Given the description of an element on the screen output the (x, y) to click on. 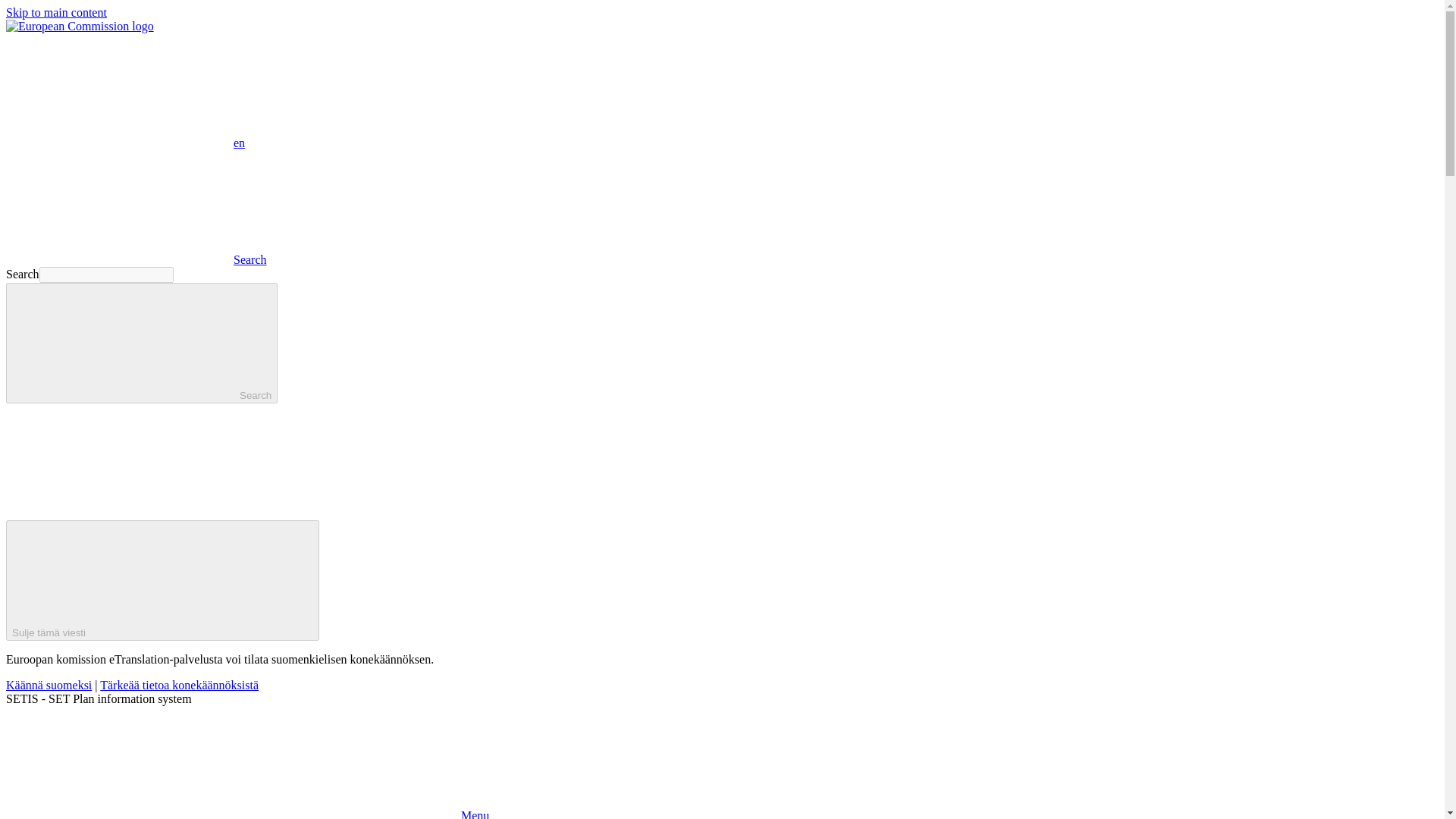
en (118, 90)
Skip to main content (55, 11)
Search (141, 342)
Menu (247, 814)
European Commission (79, 25)
Search (135, 259)
enen (124, 142)
